Given the description of an element on the screen output the (x, y) to click on. 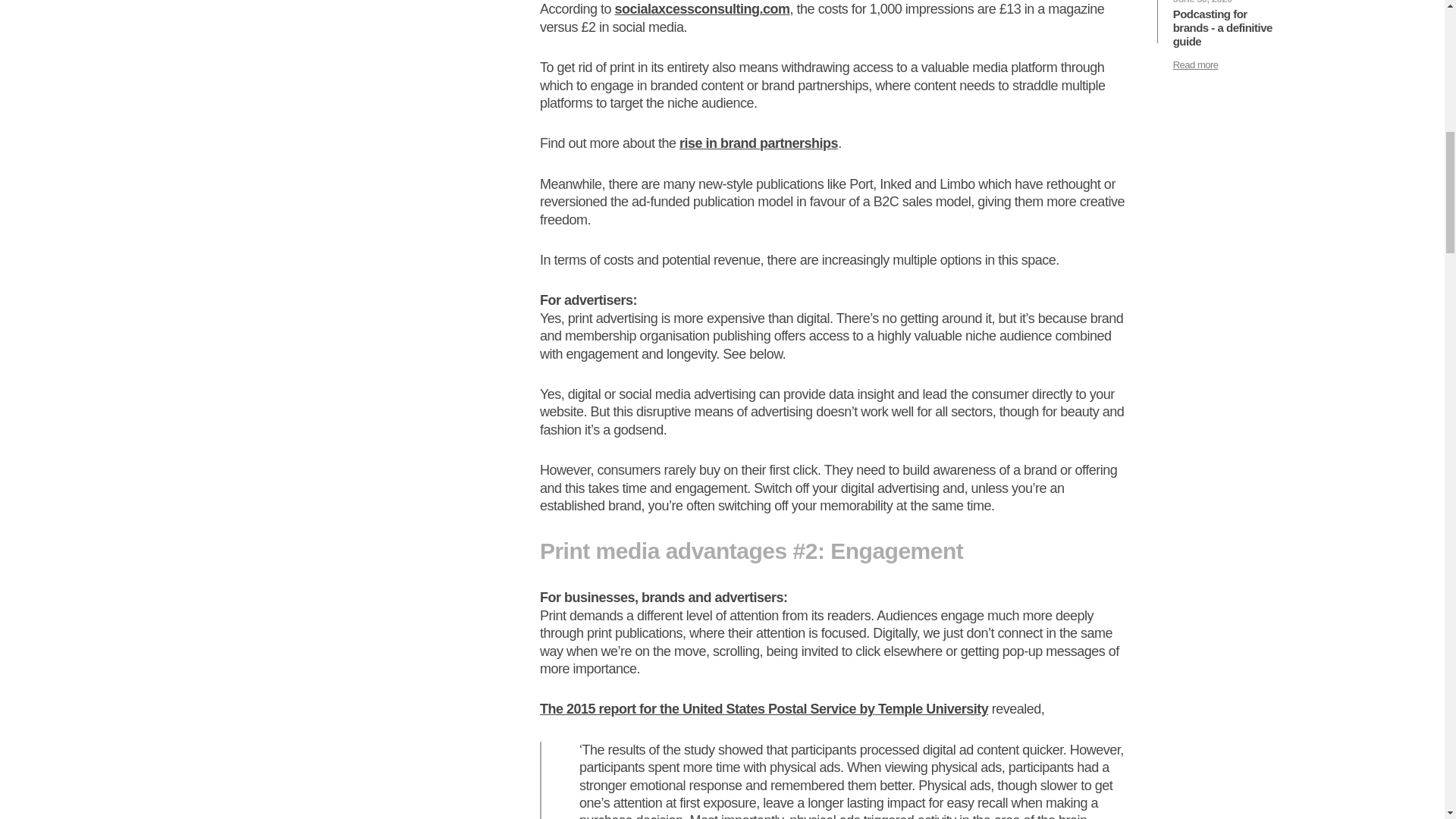
rise in brand partnerships (758, 142)
socialaxcessconsulting.com (701, 8)
